Given the description of an element on the screen output the (x, y) to click on. 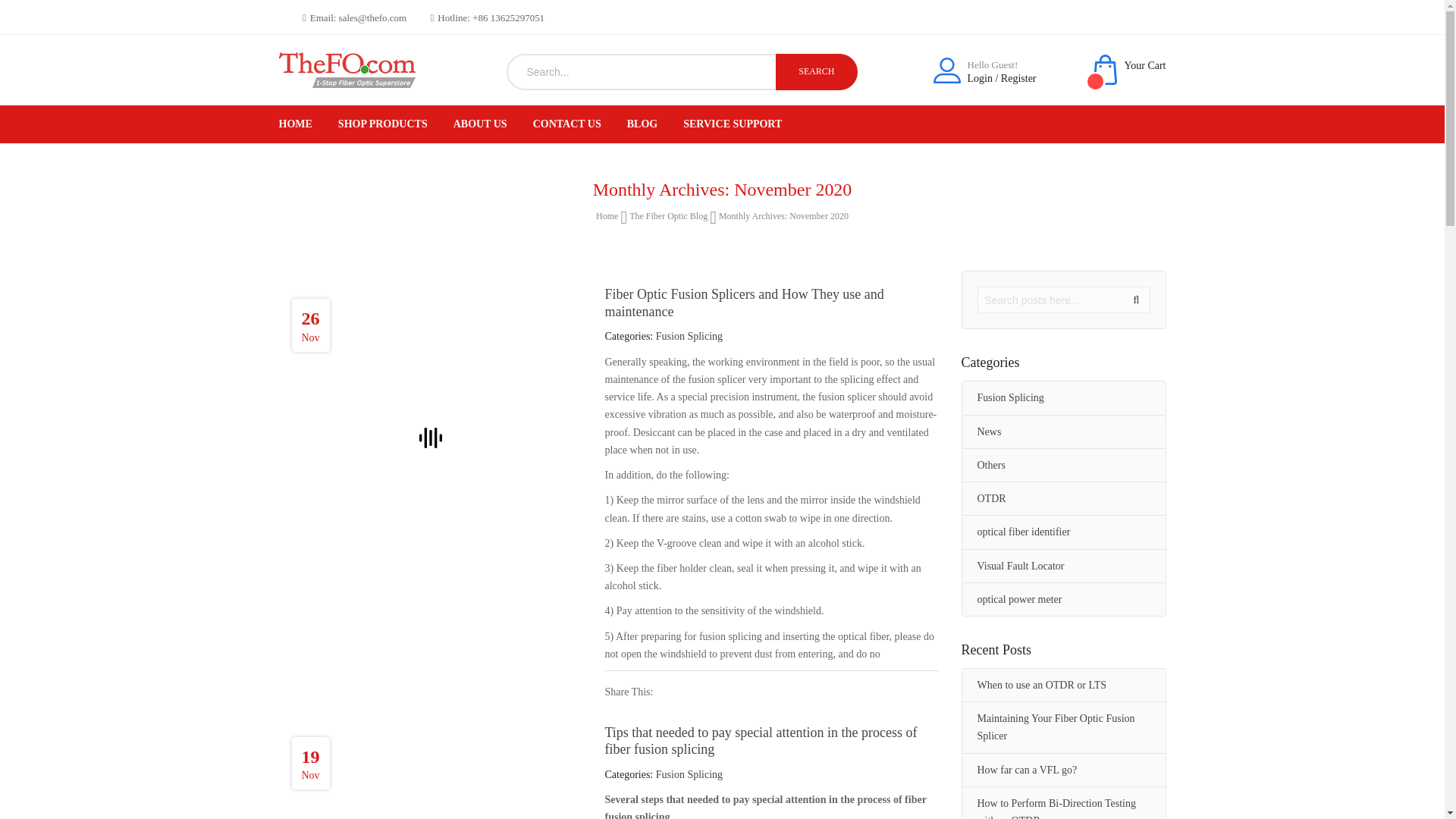
Login (980, 78)
SHOP PRODUCTS (382, 124)
Search (816, 72)
SERVICE SUPPORT (731, 124)
Register (1018, 78)
ABOUT US (479, 124)
Login (980, 78)
Search... (642, 71)
Fiber Optic Fusion Splicers and How They use and maintenance (744, 302)
TheFO.COM (346, 66)
